Given the description of an element on the screen output the (x, y) to click on. 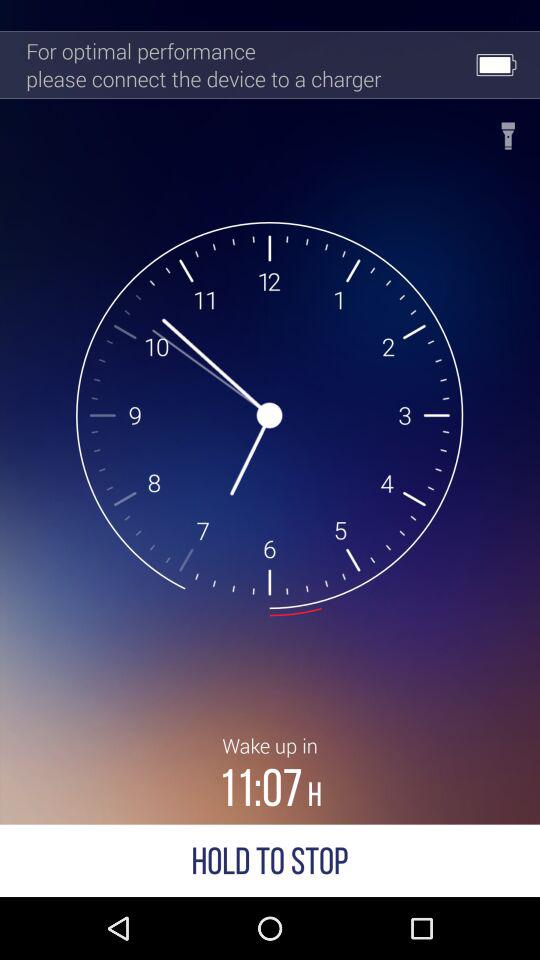
turn on flash light (508, 129)
